Given the description of an element on the screen output the (x, y) to click on. 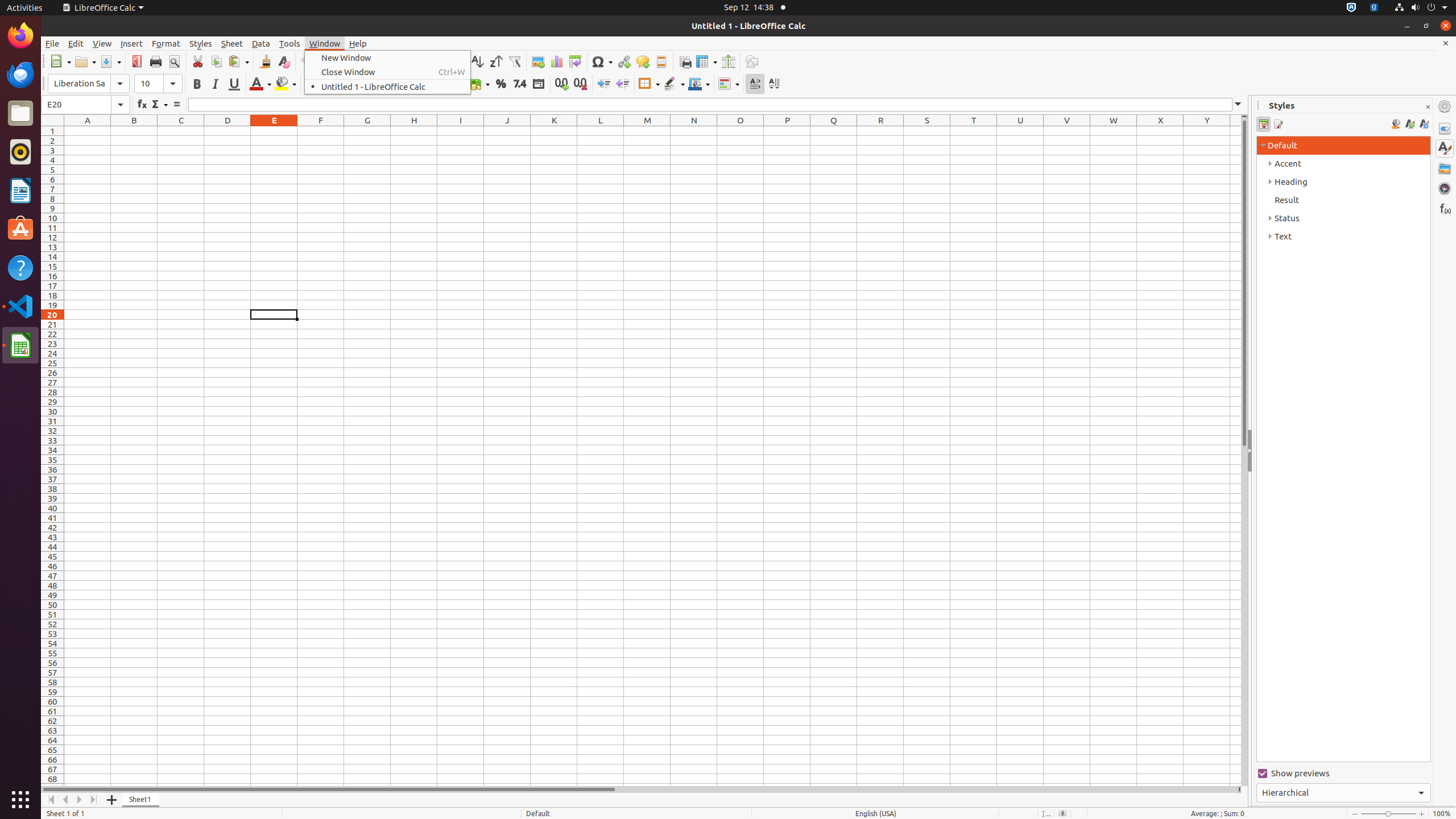
P1 Element type: table-cell (786, 130)
:1.72/StatusNotifierItem Element type: menu (1350, 7)
Sheet Sheet1 Element type: table (652, 456)
Styles Element type: menu (200, 43)
Move To End Element type: push-button (94, 799)
